Given the description of an element on the screen output the (x, y) to click on. 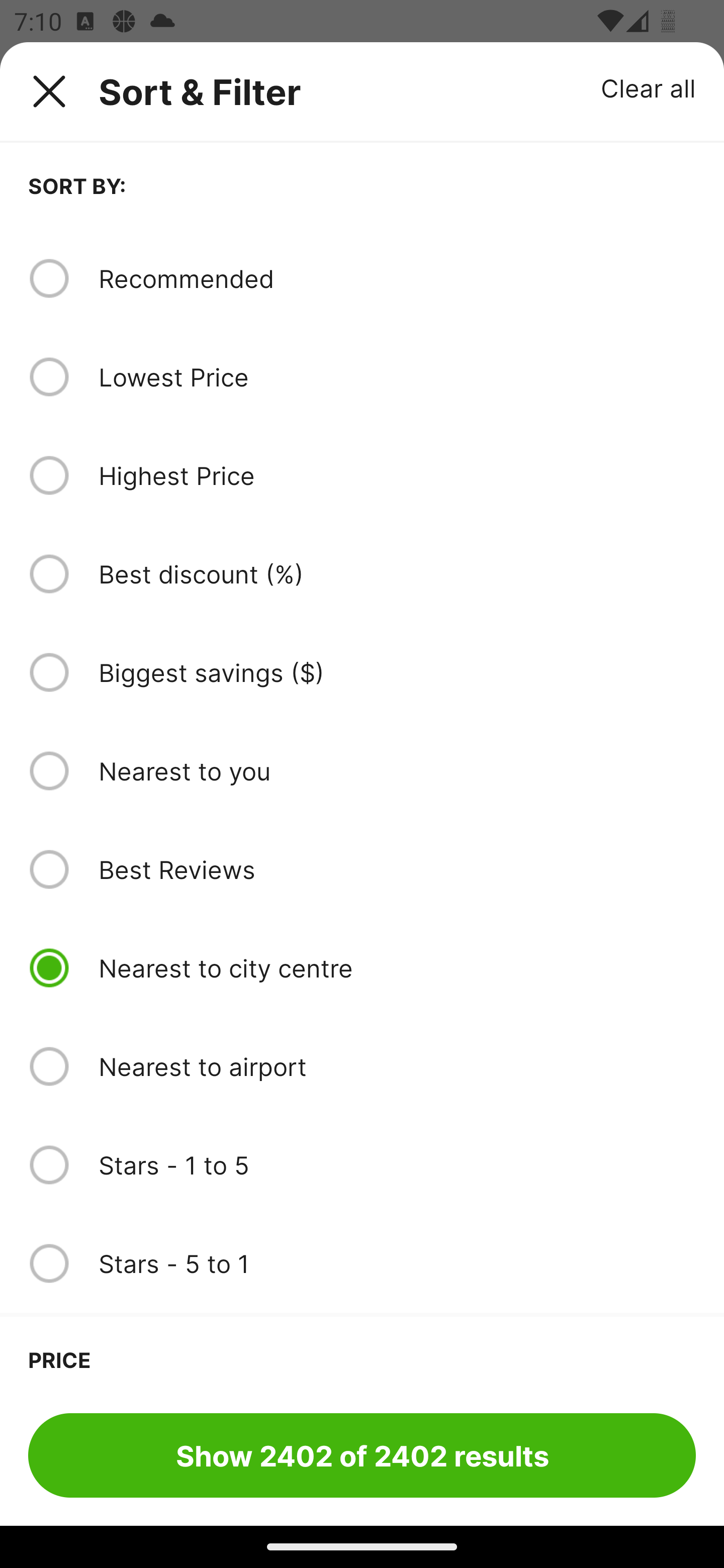
Clear all (648, 87)
Recommended  (396, 278)
Lowest Price (396, 377)
Highest Price (396, 474)
Best discount (%) (396, 573)
Biggest savings ($) (396, 672)
Nearest to you (396, 770)
Best Reviews (396, 869)
Nearest to city centre (396, 968)
Nearest to airport (396, 1065)
Stars - 1 to 5 (396, 1164)
Stars - 5 to 1 (396, 1263)
Show 2402 of 2402 results (361, 1454)
